Given the description of an element on the screen output the (x, y) to click on. 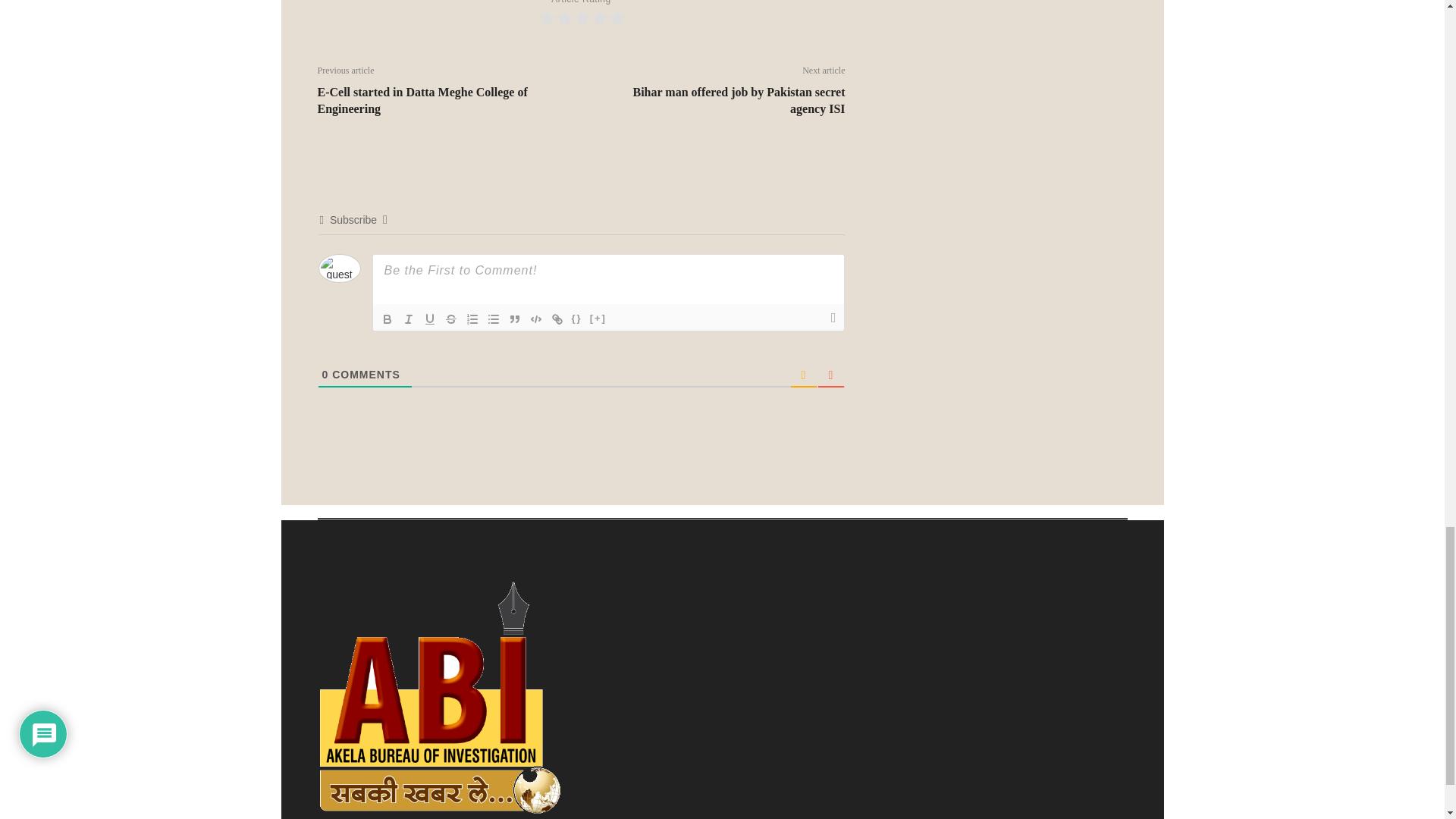
Unordered List (492, 319)
Bold (386, 319)
Ordered List (471, 319)
Underline (429, 319)
Strike (450, 319)
Code Block (535, 319)
Italic (408, 319)
Blockquote (513, 319)
